Given the description of an element on the screen output the (x, y) to click on. 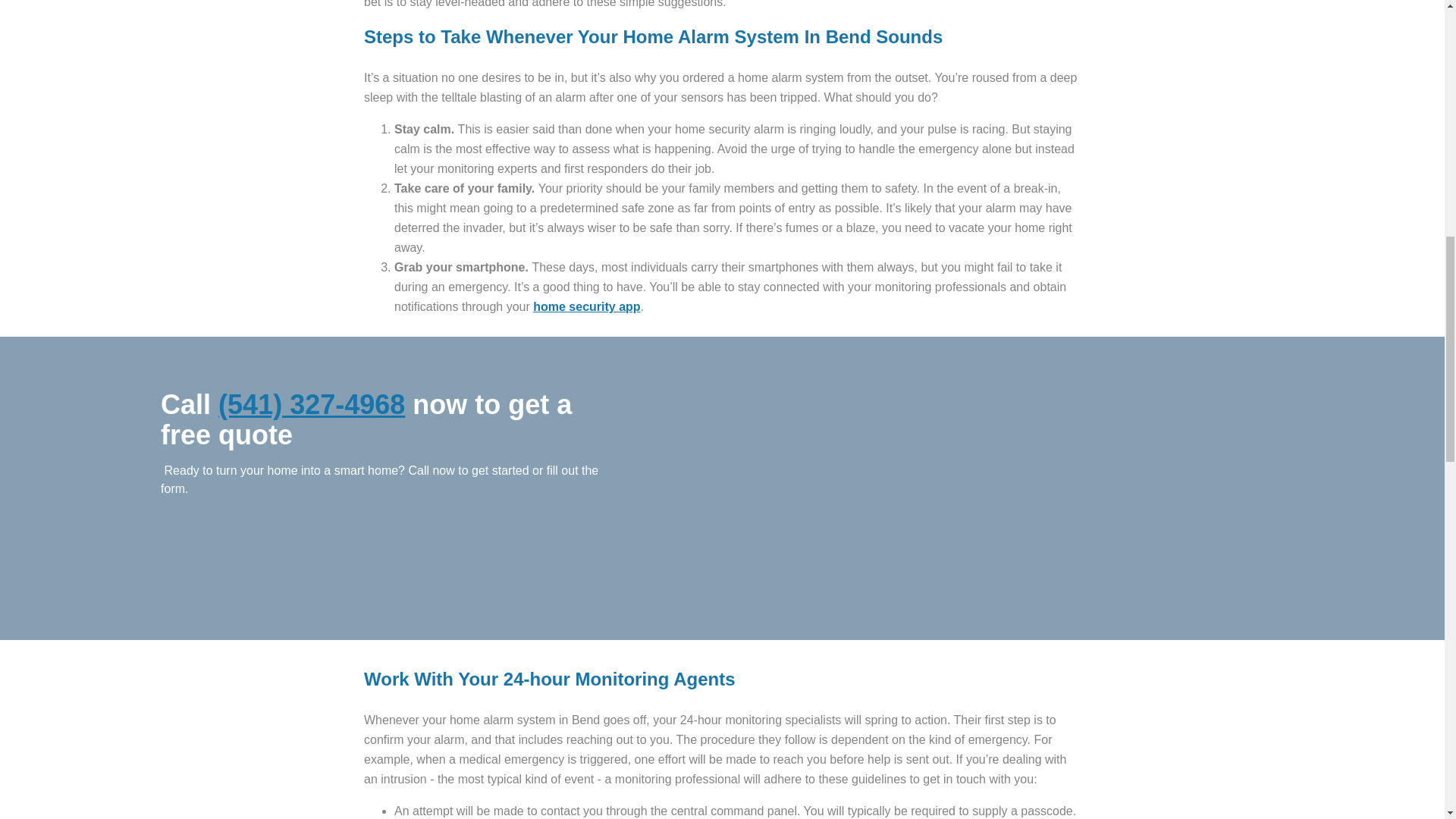
home security app (586, 306)
